Given the description of an element on the screen output the (x, y) to click on. 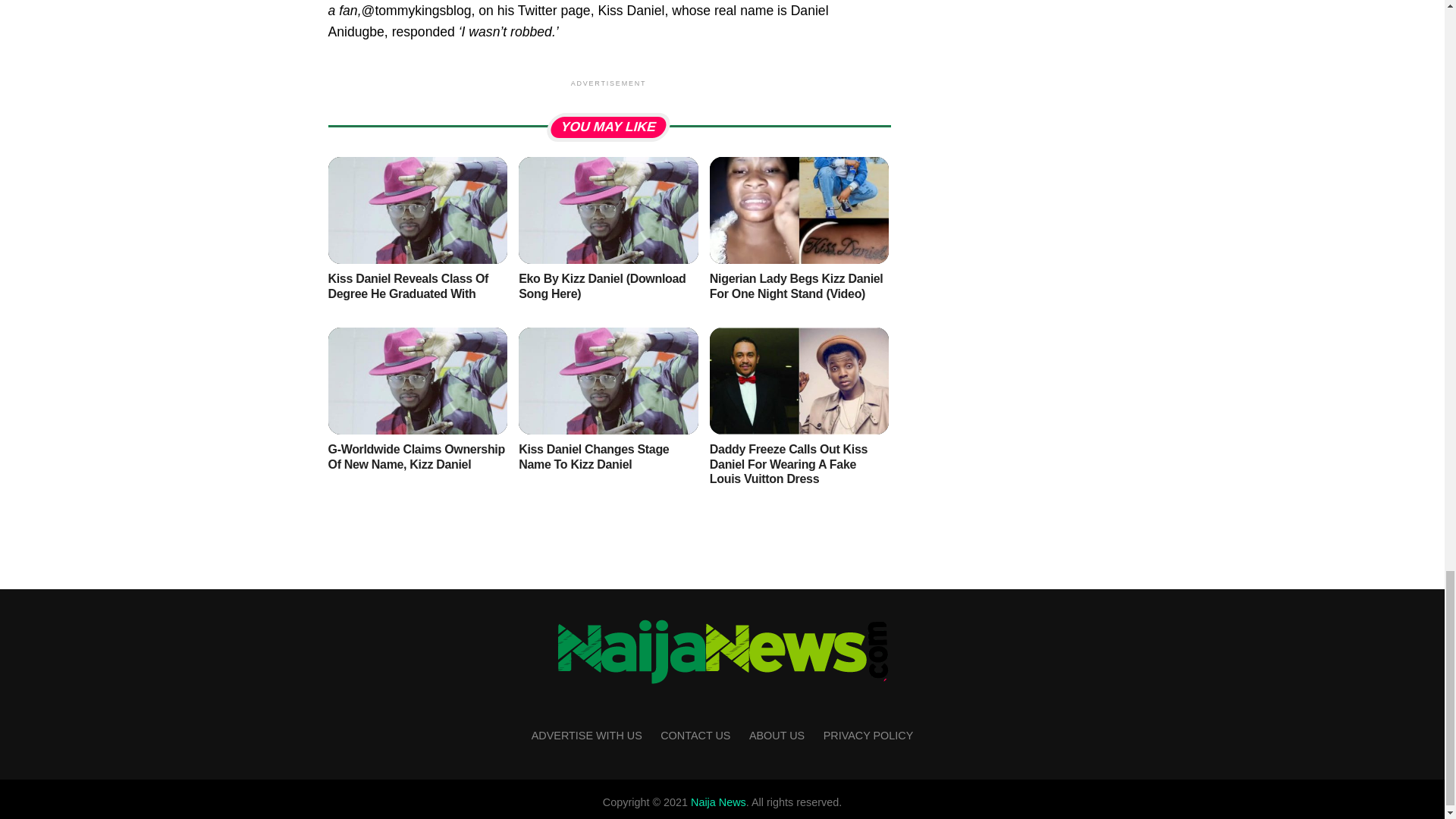
ABOUT US (777, 735)
CONTACT US (695, 735)
ADVERTISE WITH US (586, 735)
